Given the description of an element on the screen output the (x, y) to click on. 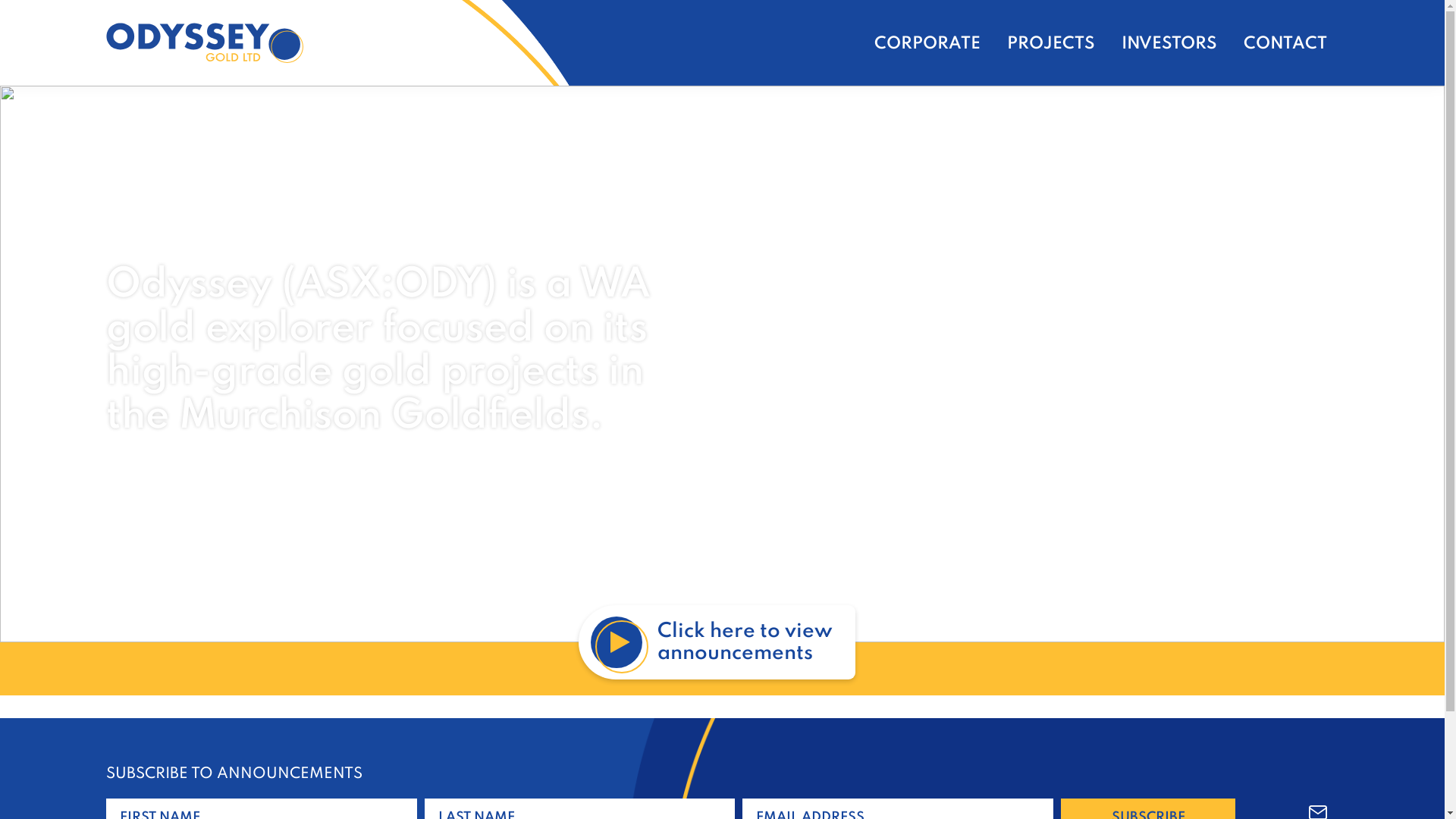
PROJECTS Element type: text (1050, 43)
CONTACT Element type: text (1285, 43)
CORPORATE Element type: text (926, 43)
Skip to primary navigation Element type: text (0, 0)
INVESTORS Element type: text (1169, 43)
Click here to view
announcements Element type: text (715, 642)
